Given the description of an element on the screen output the (x, y) to click on. 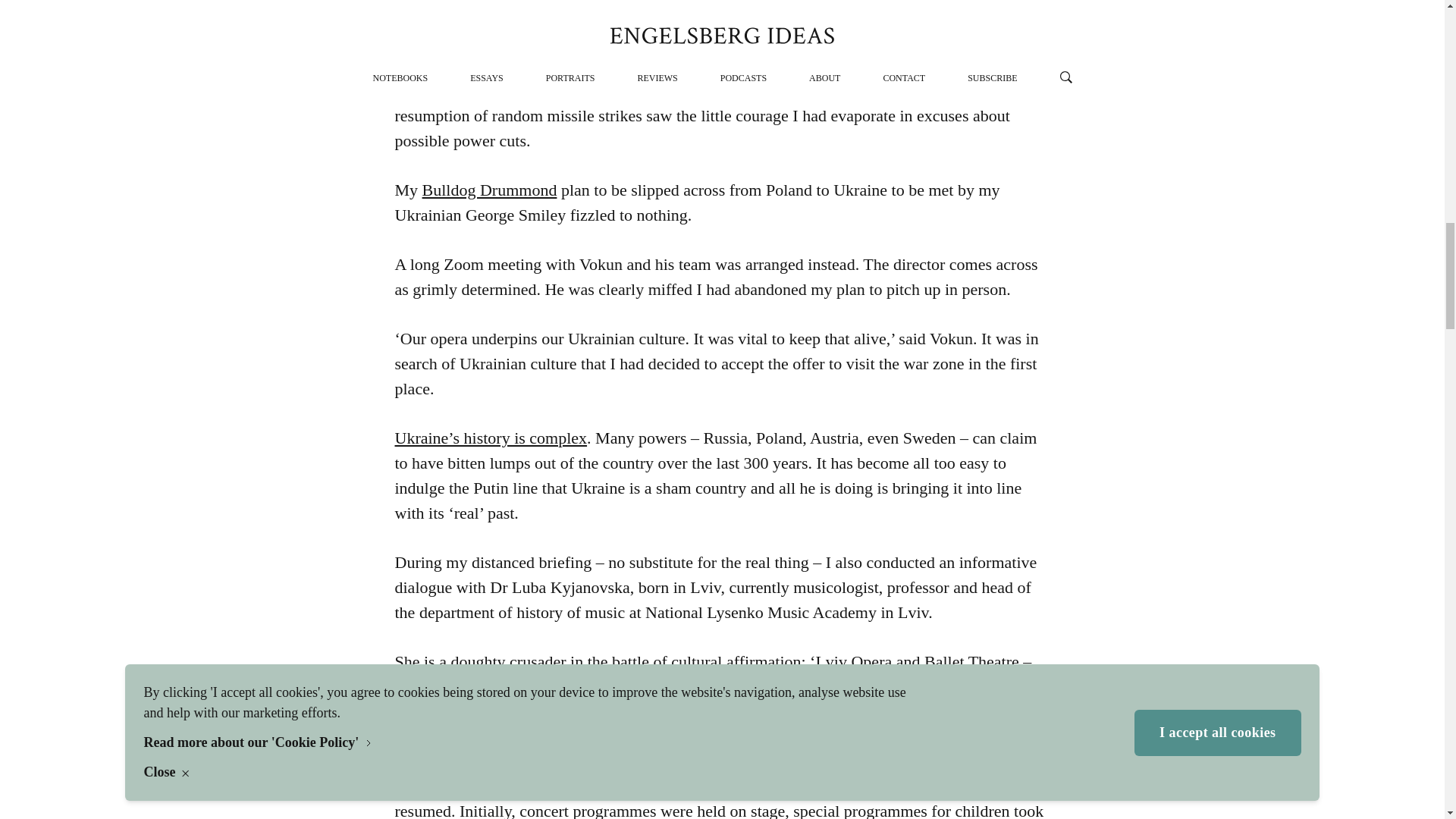
Bulldog Drummond (489, 189)
